Given the description of an element on the screen output the (x, y) to click on. 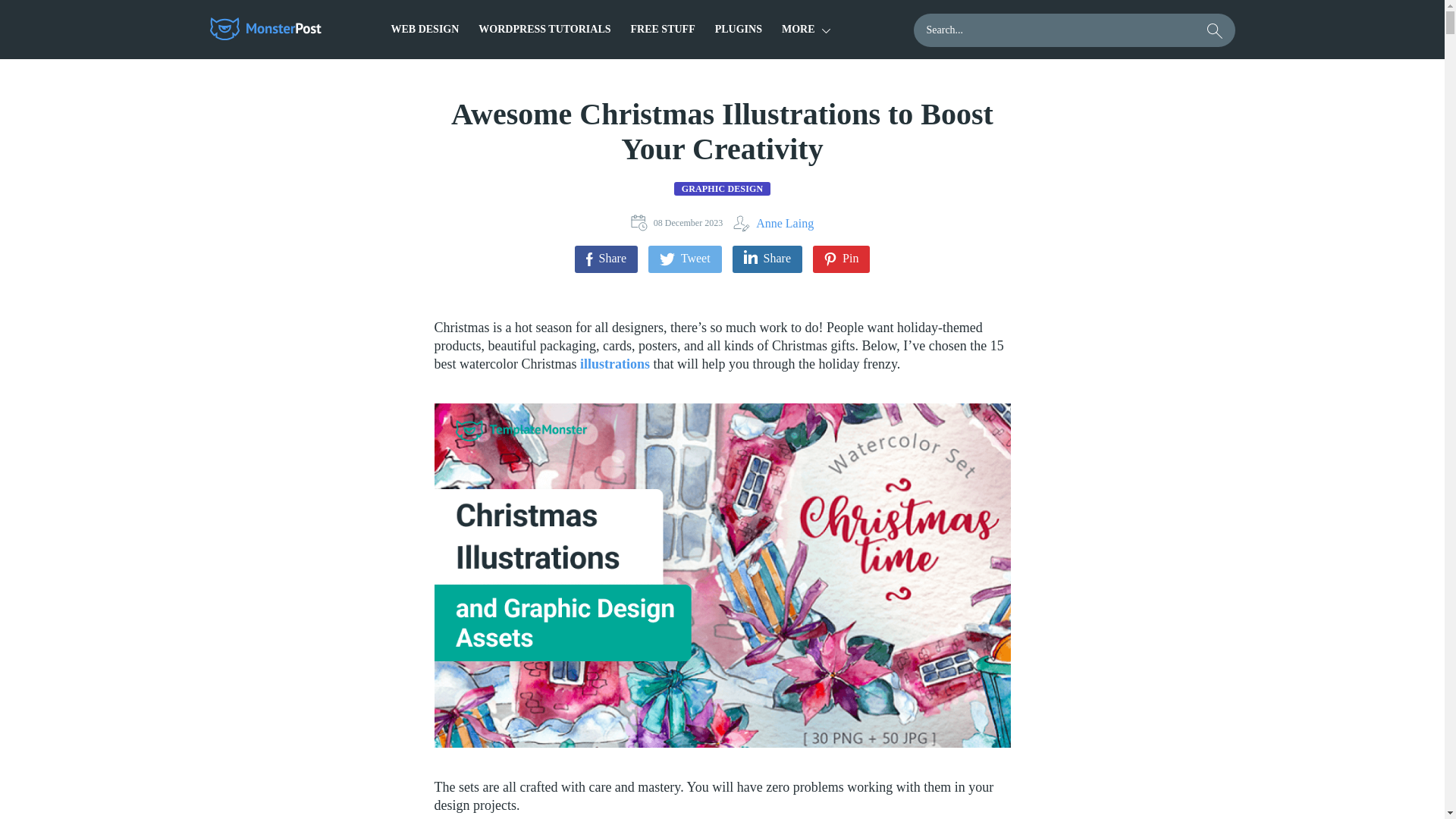
Pin (840, 258)
illustrations (614, 363)
PLUGINS (737, 29)
WORDPRESS TUTORIALS (544, 29)
WEB DESIGN (425, 29)
GRAPHIC DESIGN (722, 188)
FREE STUFF (662, 29)
Tweet (684, 258)
Share (767, 258)
Anne Laing (773, 223)
